Given the description of an element on the screen output the (x, y) to click on. 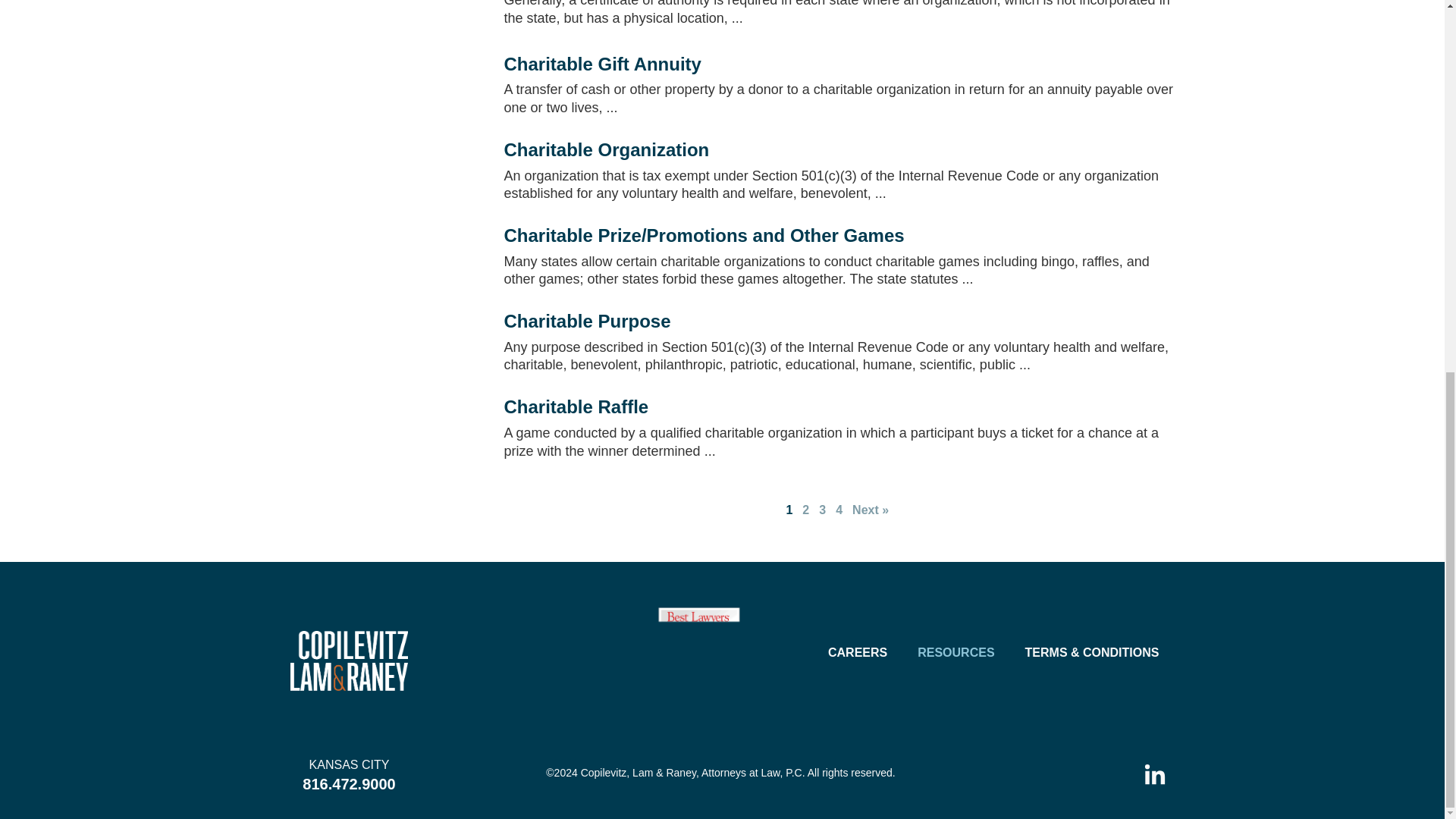
CAREERS (857, 652)
816.472.9000 (348, 783)
RESOURCES (955, 652)
